Given the description of an element on the screen output the (x, y) to click on. 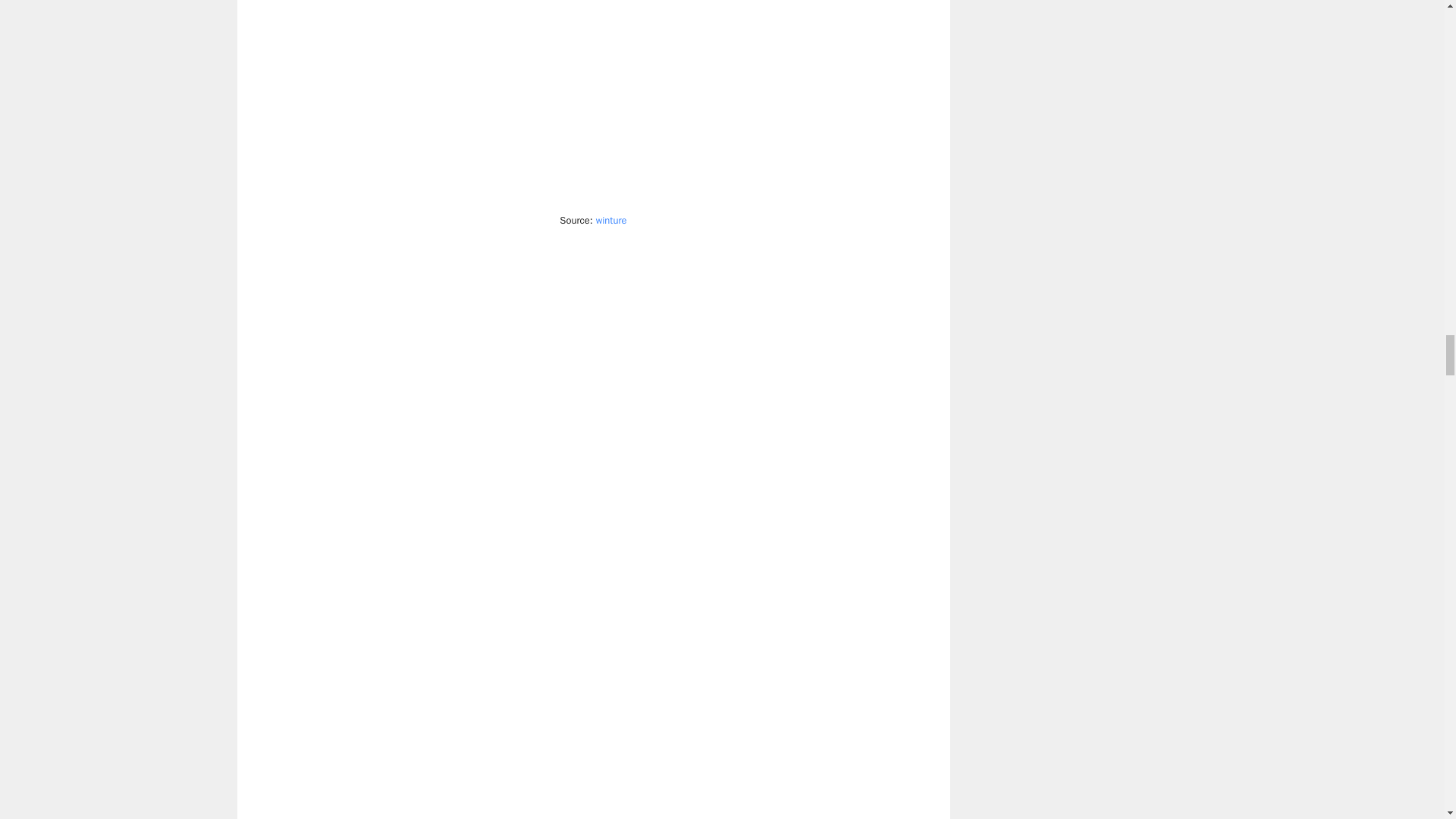
winture (611, 219)
